Given the description of an element on the screen output the (x, y) to click on. 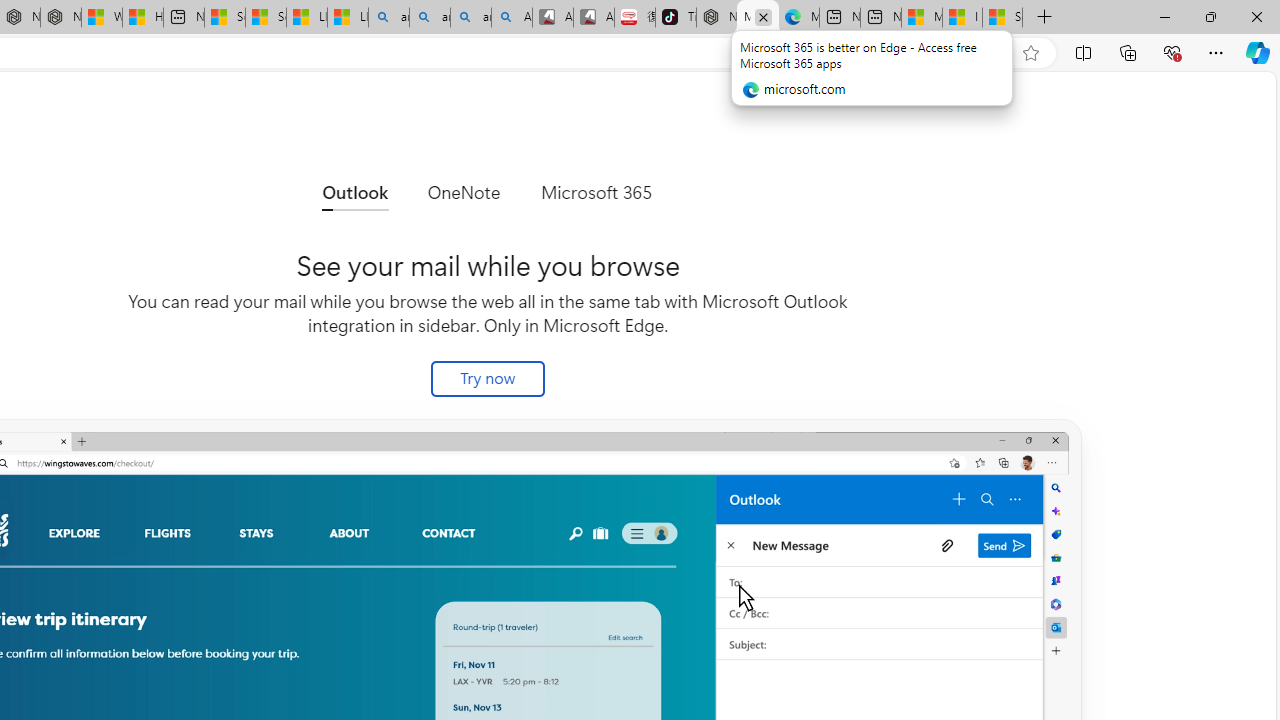
All Cubot phones (593, 17)
amazon - Search Images (470, 17)
Enhance video (991, 53)
I Gained 20 Pounds of Muscle in 30 Days! | Watch (962, 17)
Nordace - Best Sellers (717, 17)
